Given the description of an element on the screen output the (x, y) to click on. 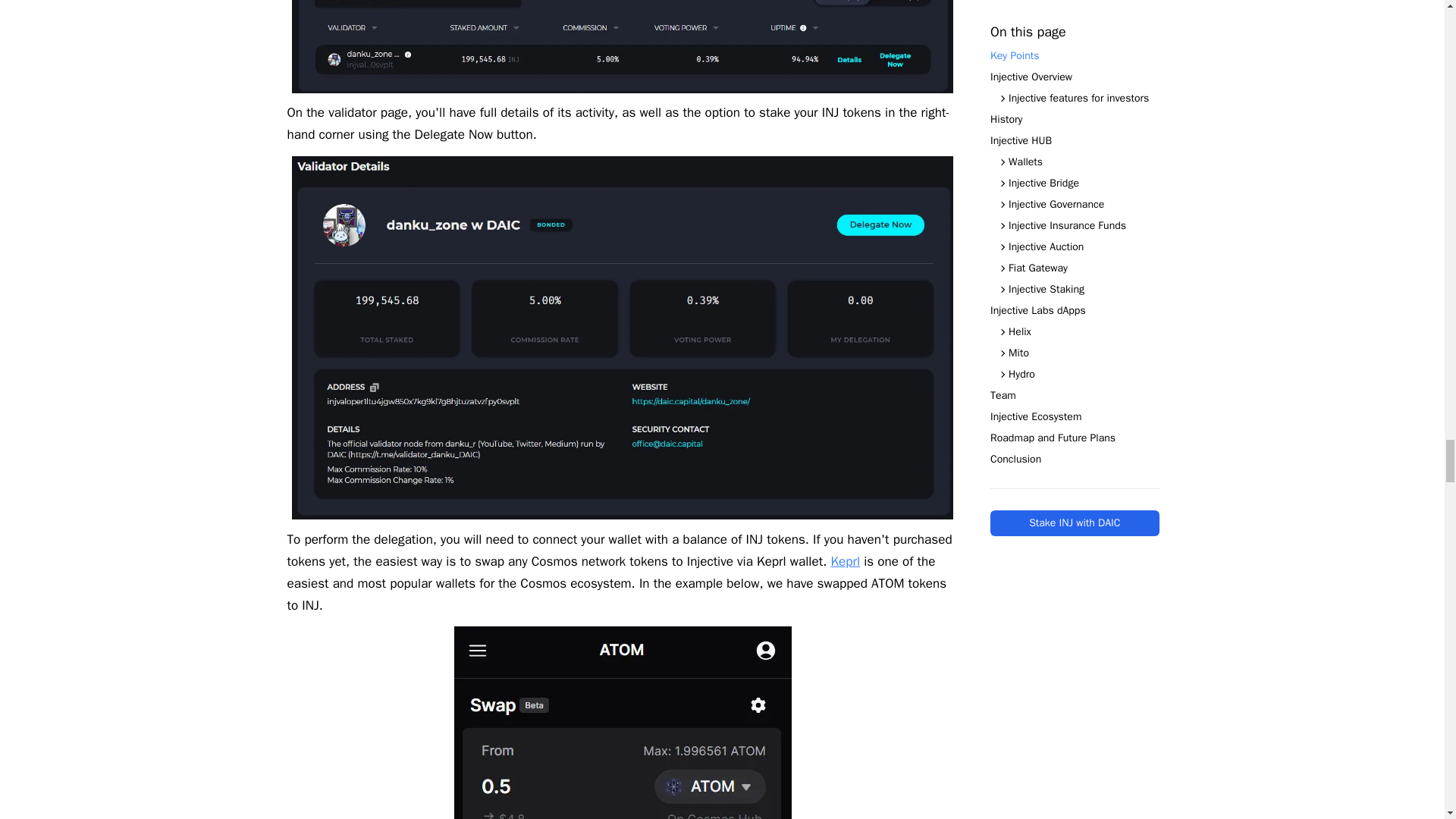
Keprl (844, 561)
